Given the description of an element on the screen output the (x, y) to click on. 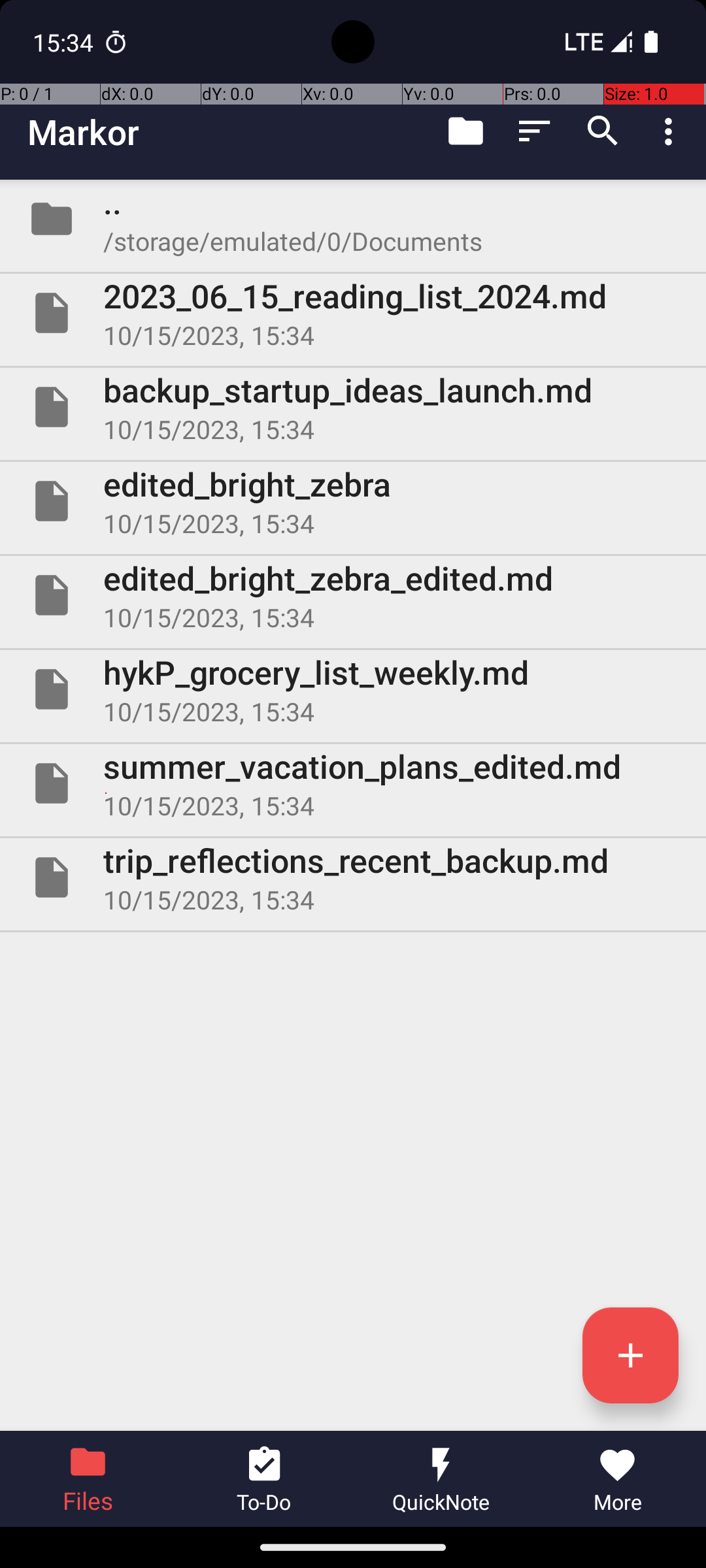
File 2023_06_15_reading_list_2024.md  Element type: android.widget.LinearLayout (353, 312)
File backup_startup_ideas_launch.md  Element type: android.widget.LinearLayout (353, 406)
File edited_bright_zebra  Element type: android.widget.LinearLayout (353, 500)
File edited_bright_zebra_edited.md  Element type: android.widget.LinearLayout (353, 594)
File hykP_grocery_list_weekly.md  Element type: android.widget.LinearLayout (353, 689)
File summer_vacation_plans_edited.md  Element type: android.widget.LinearLayout (353, 783)
File trip_reflections_recent_backup.md  Element type: android.widget.LinearLayout (353, 877)
